Given the description of an element on the screen output the (x, y) to click on. 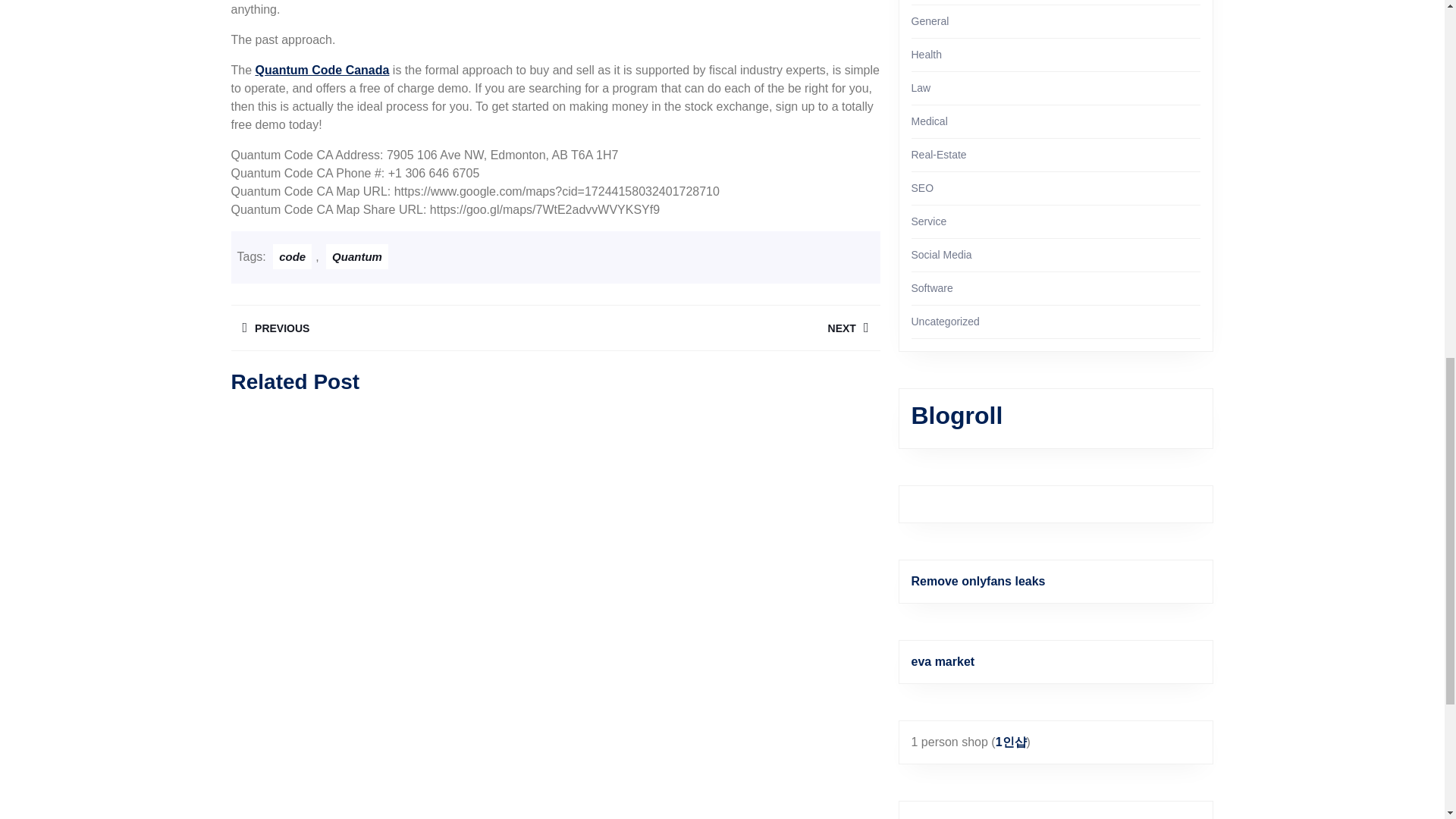
Quantum Code Canada (716, 327)
Quantum (392, 327)
code (323, 69)
